Given the description of an element on the screen output the (x, y) to click on. 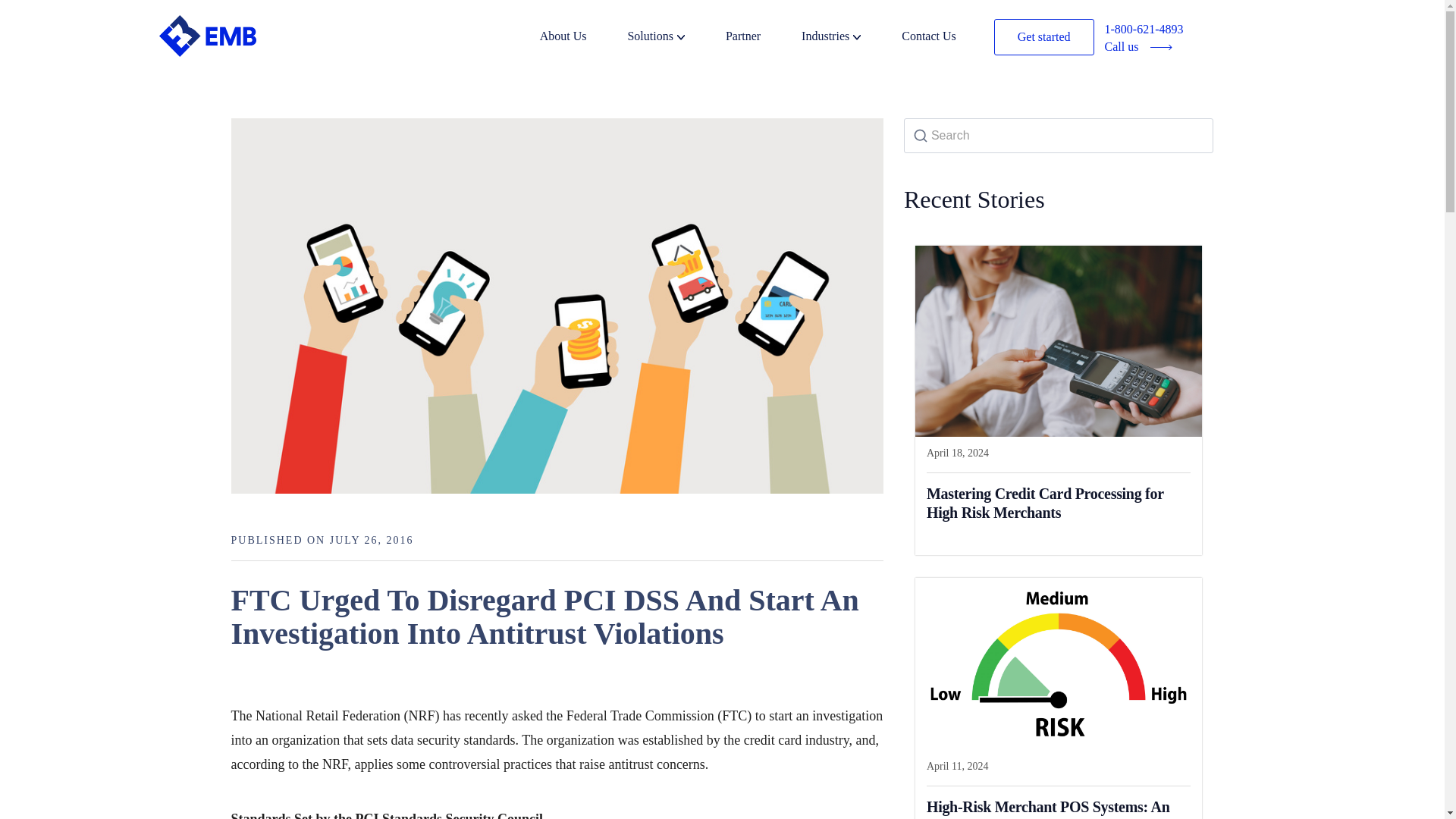
About Us (582, 37)
Industries (850, 37)
Partner (761, 37)
Solutions (674, 37)
